Given the description of an element on the screen output the (x, y) to click on. 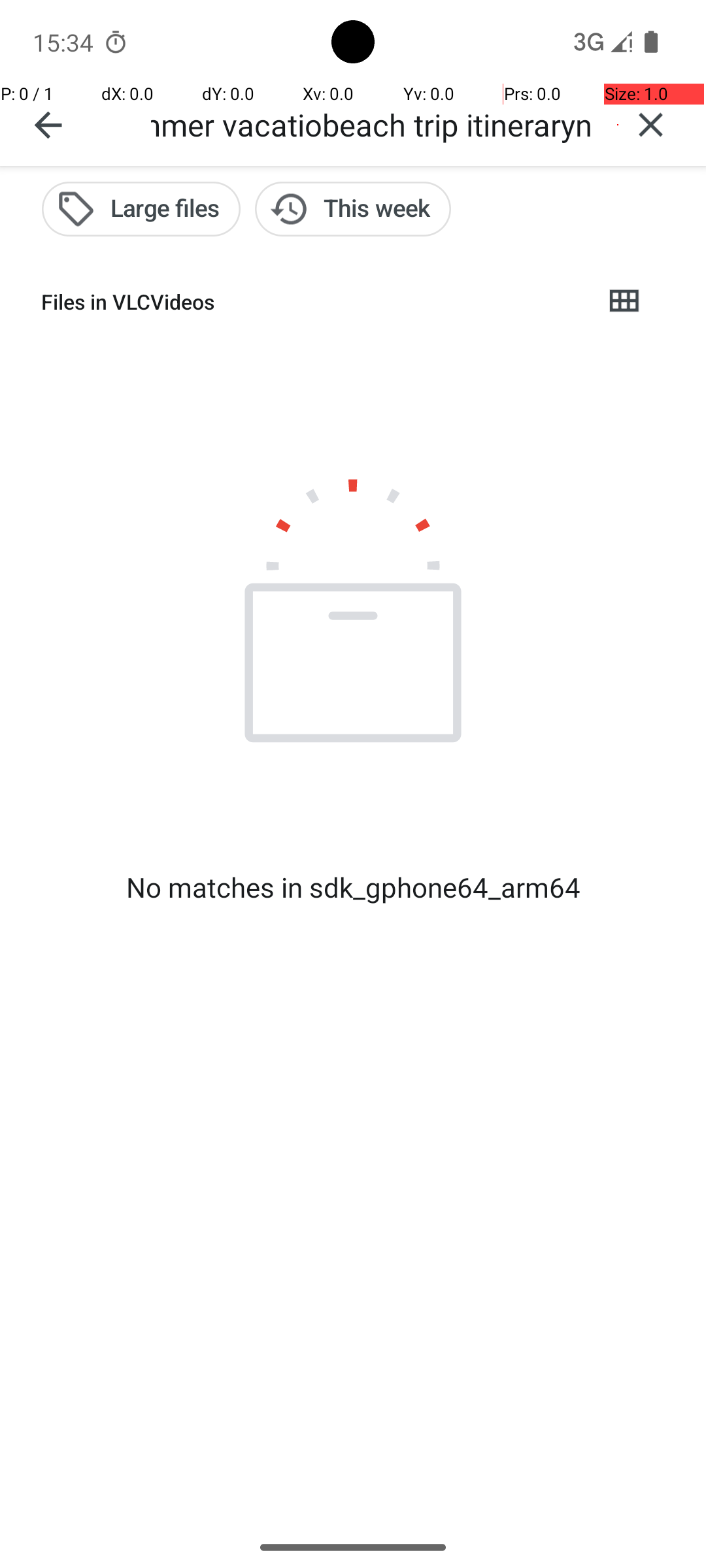
Files in VLCVideos Element type: android.widget.TextView (311, 301)
summer vacatiobeach trip itineraryn plans Element type: android.widget.AutoCompleteTextView (373, 124)
No matches in sdk_gphone64_arm64 Element type: android.widget.TextView (353, 886)
